Given the description of an element on the screen output the (x, y) to click on. 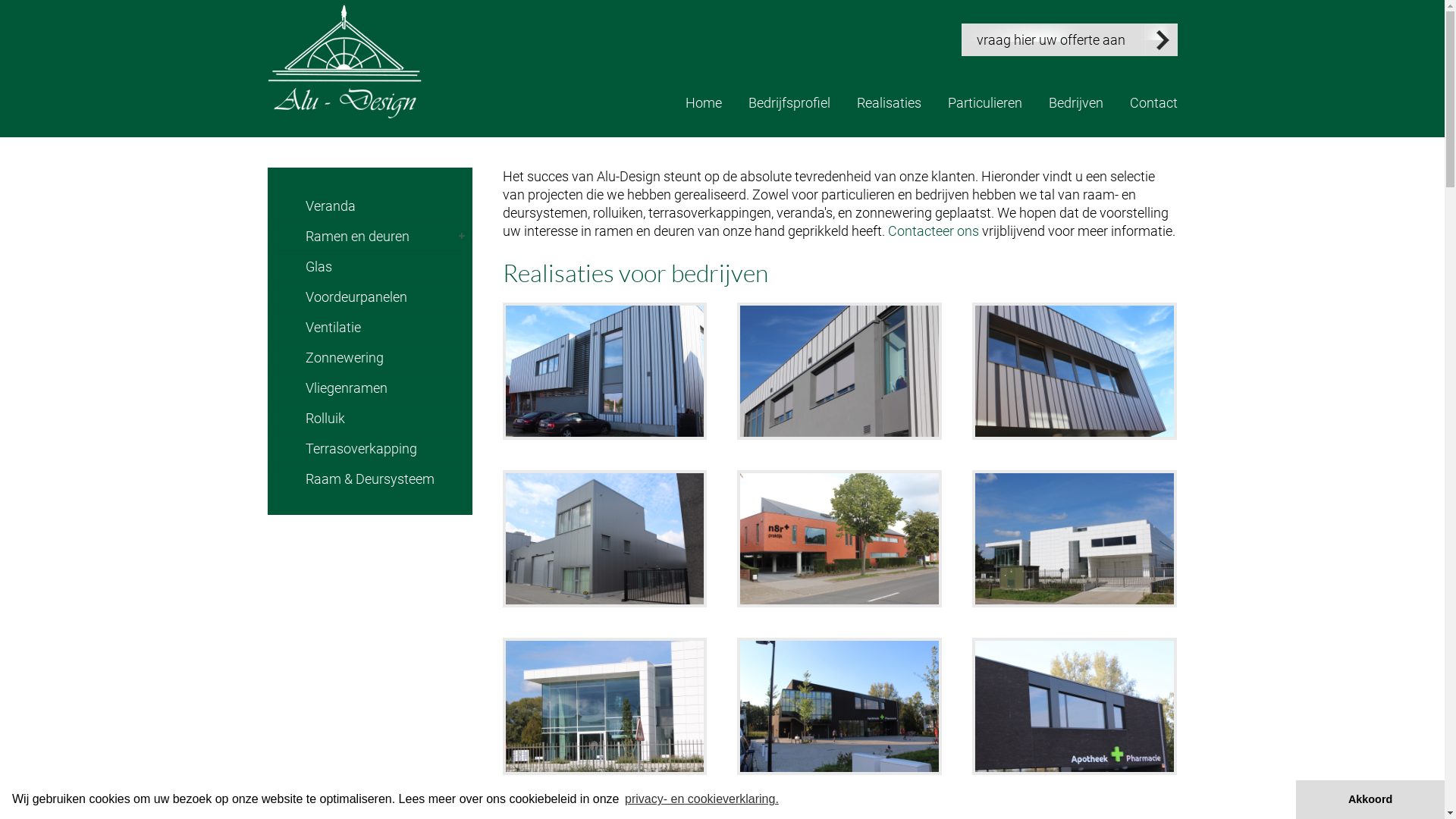
Particulieren Element type: text (984, 101)
Home Element type: text (703, 101)
privacy- en cookieverklaring. Element type: text (701, 798)
Realisaties Element type: text (888, 101)
Bedrijfsprofiel Element type: text (788, 101)
vraag hier uw offerte aan Element type: text (1069, 39)
Rolluik Element type: text (369, 416)
Bedrijven Element type: text (1075, 101)
Glas Element type: text (369, 265)
Contact Element type: text (1153, 101)
Ramen en deuren Element type: text (369, 234)
Raam & Deursysteem Element type: text (369, 477)
Contacteer ons Element type: text (932, 230)
Zonnewering Element type: text (369, 356)
Veranda Element type: text (369, 204)
Vliegenramen Element type: text (369, 386)
Ventilatie Element type: text (369, 325)
Voordeurpanelen Element type: text (369, 295)
Terrasoverkapping Element type: text (369, 447)
